Given the description of an element on the screen output the (x, y) to click on. 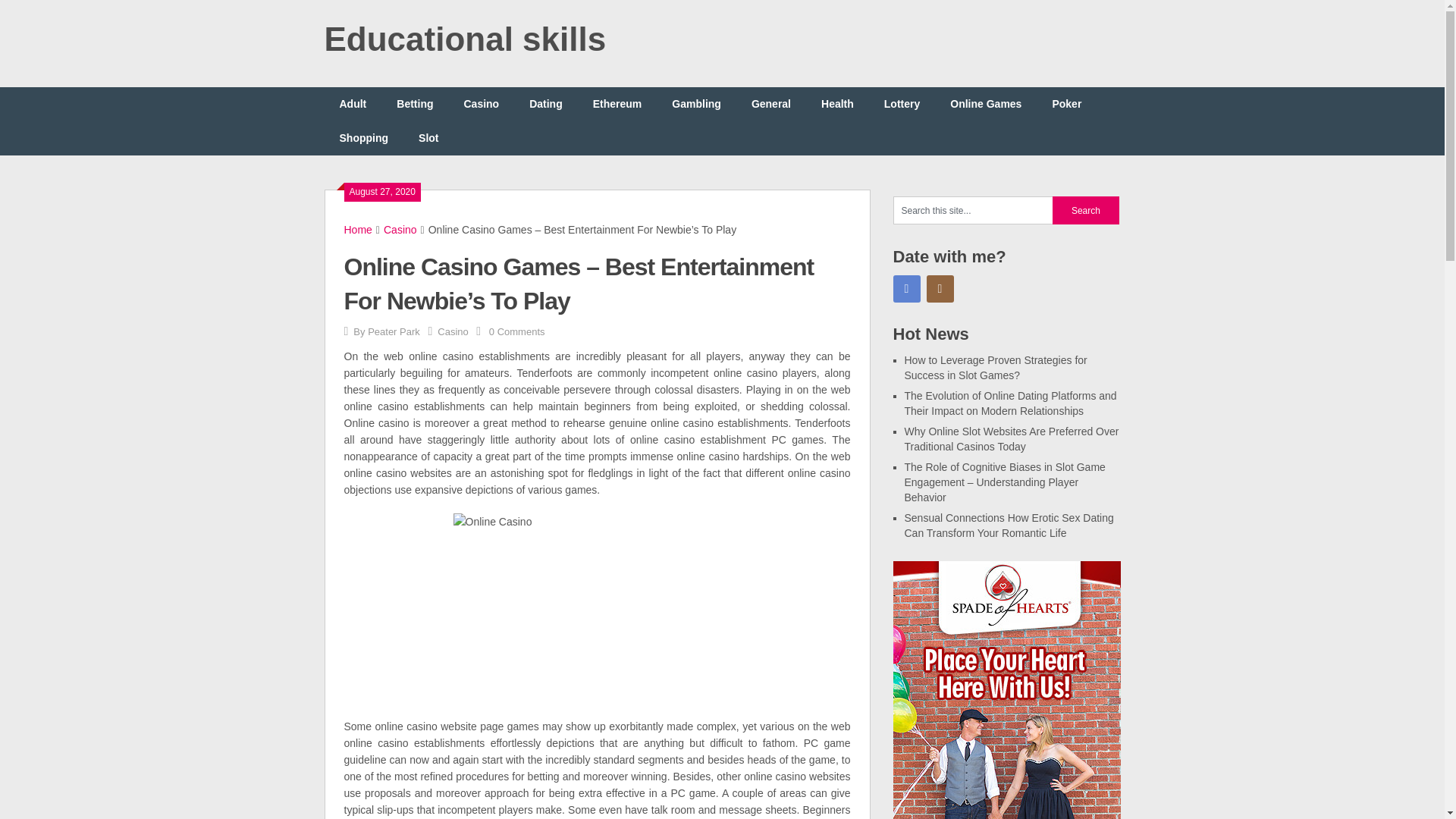
Instagram (939, 288)
0 Comments (516, 331)
Peater Park (394, 331)
Facebook (906, 288)
Gambling (696, 103)
Slot (427, 138)
Posts by Peater Park (394, 331)
Poker (1066, 103)
Dating (545, 103)
Ethereum (618, 103)
General (771, 103)
Search (1085, 210)
